Given the description of an element on the screen output the (x, y) to click on. 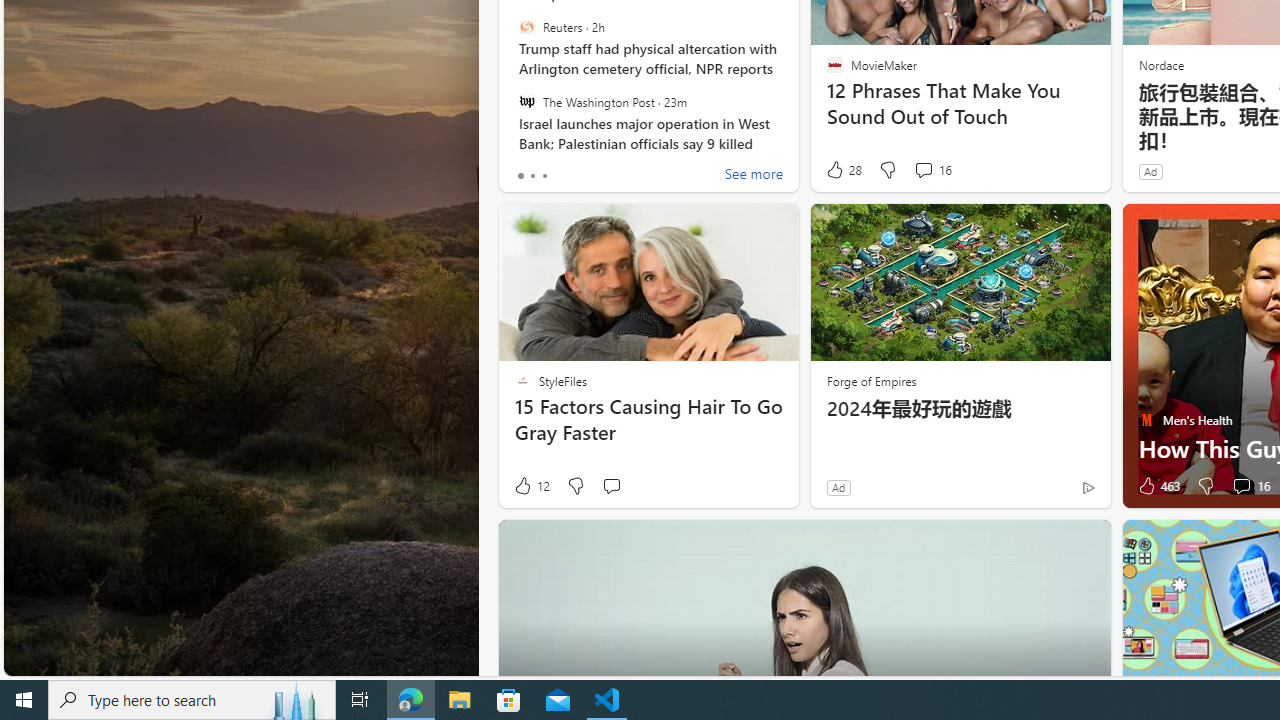
Start the conversation (611, 485)
Reuters (526, 27)
The Washington Post (526, 101)
Ad (838, 487)
See more (753, 175)
463 Like (1157, 485)
Ad Choice (1087, 487)
tab-1 (532, 175)
tab-2 (543, 175)
Nordace (1160, 64)
View comments 16 Comment (1241, 485)
View comments 16 Comment (1249, 485)
